Given the description of an element on the screen output the (x, y) to click on. 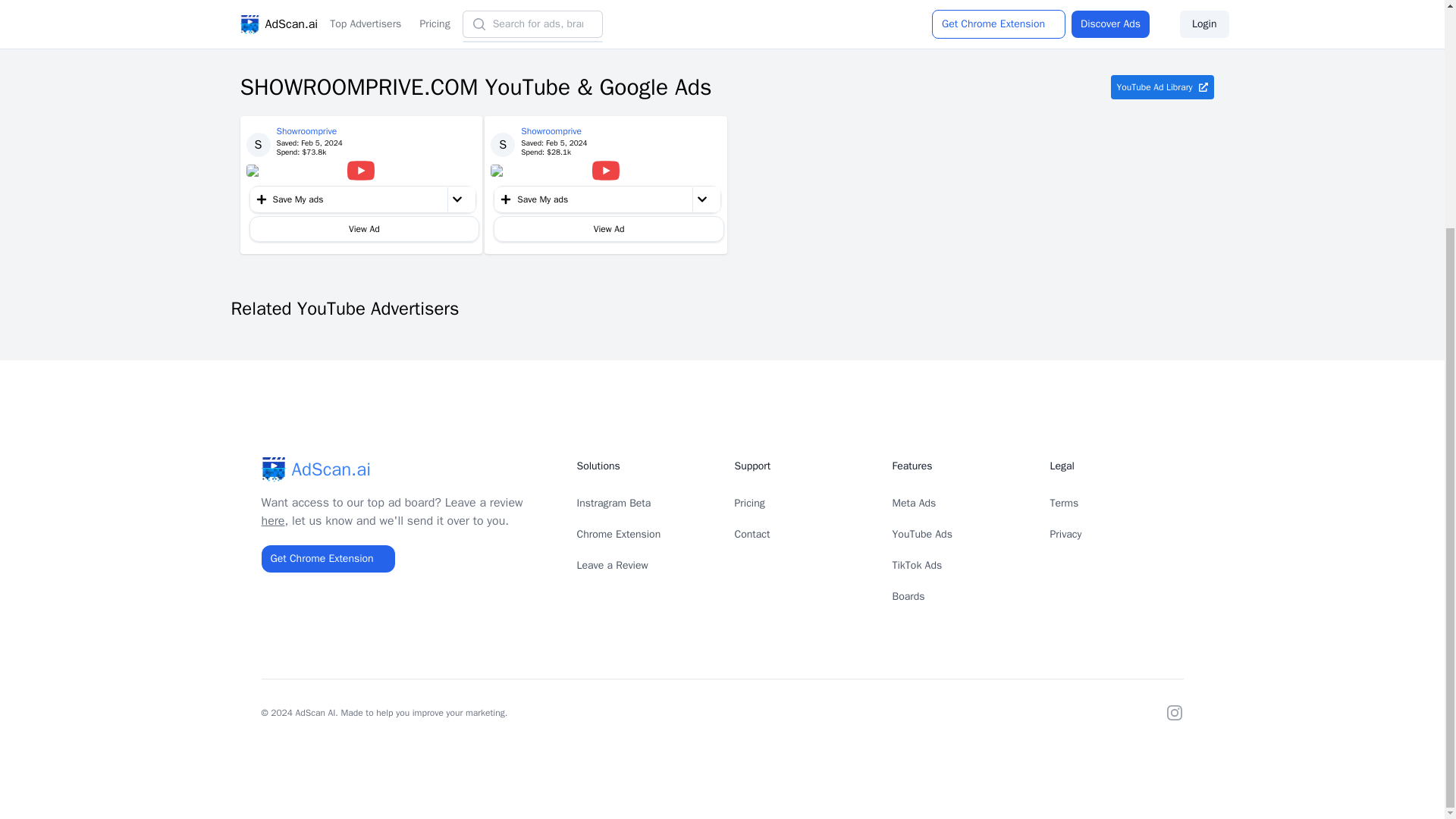
TikTok Ads (916, 564)
Boards (907, 595)
Meta Ads (913, 502)
Contact (751, 533)
Terms (1063, 502)
YouTube Ad Library (1162, 87)
Instragram Beta (613, 502)
Get Chrome Extension (327, 558)
Privacy (1065, 533)
